Given the description of an element on the screen output the (x, y) to click on. 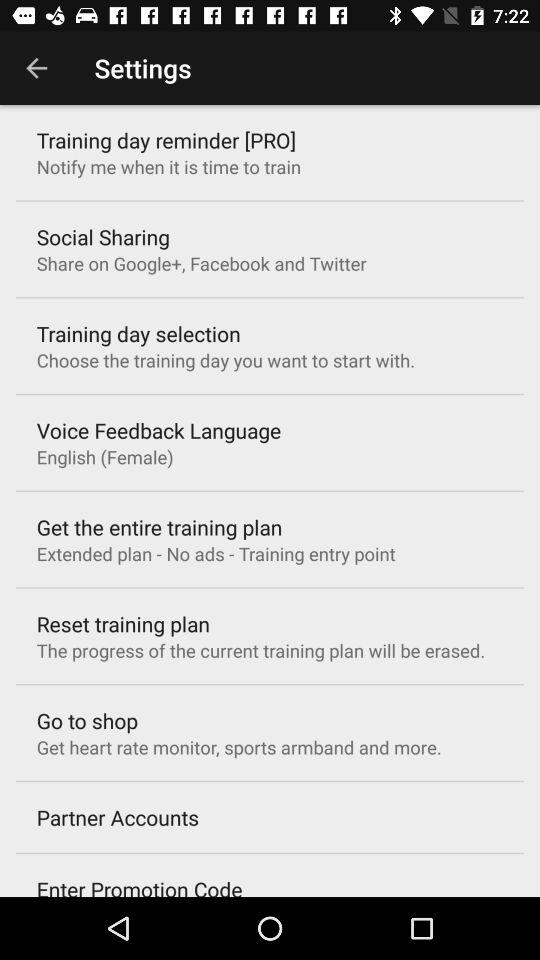
launch item above the training day reminder icon (36, 68)
